Given the description of an element on the screen output the (x, y) to click on. 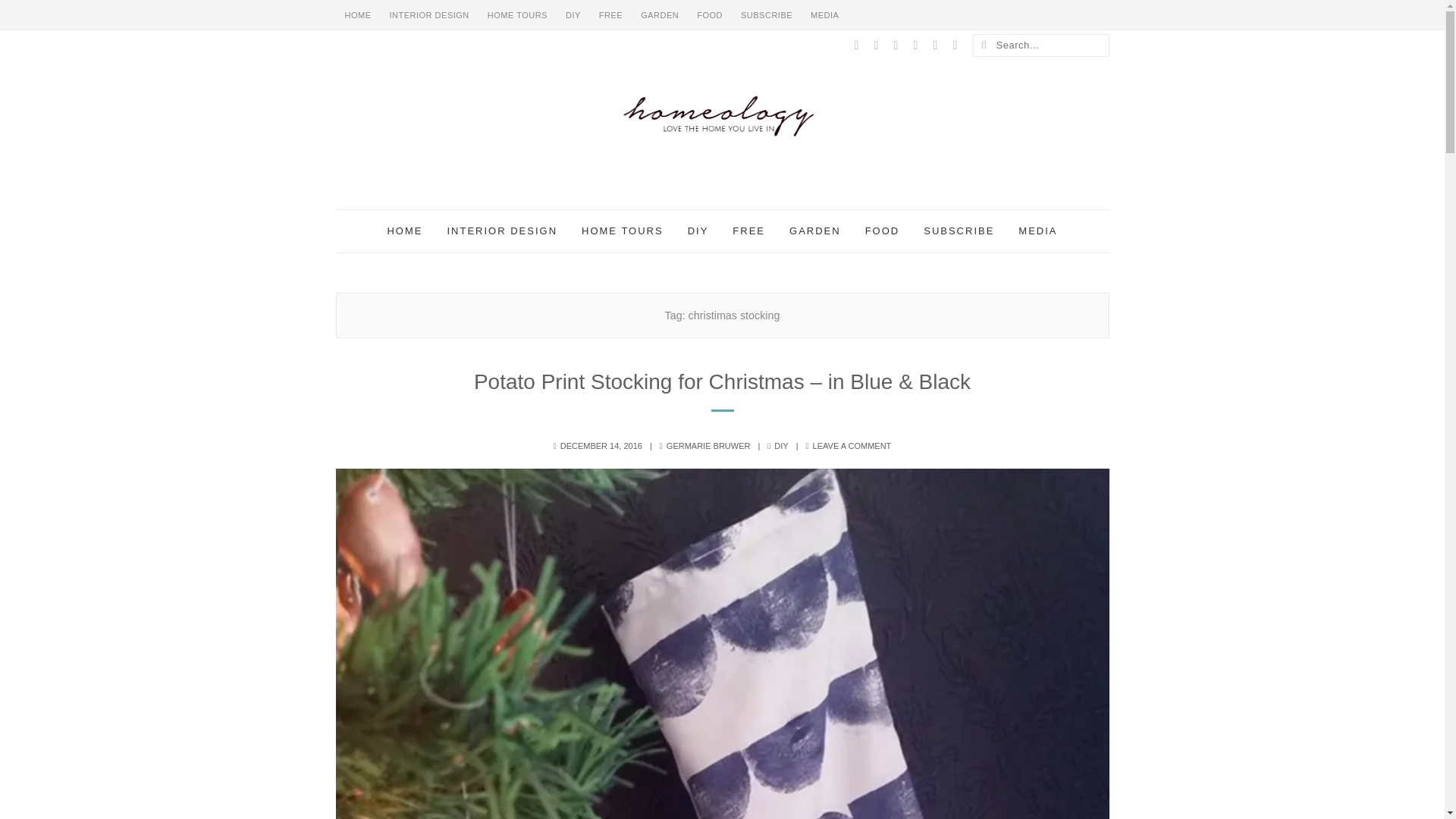
HOME TOURS (517, 15)
MEDIA (1037, 230)
GARDEN (815, 230)
GERMARIE BRUWER (708, 445)
MEDIA (824, 15)
Instagram (914, 45)
HOME (357, 15)
FREE (610, 15)
YouTube (934, 45)
FREE (748, 230)
INTERIOR DESIGN (429, 15)
DECEMBER 14, 2016 (601, 445)
LEAVE A COMMENT (851, 445)
SUBSCRIBE (767, 15)
INTERIOR DESIGN (501, 230)
